Given the description of an element on the screen output the (x, y) to click on. 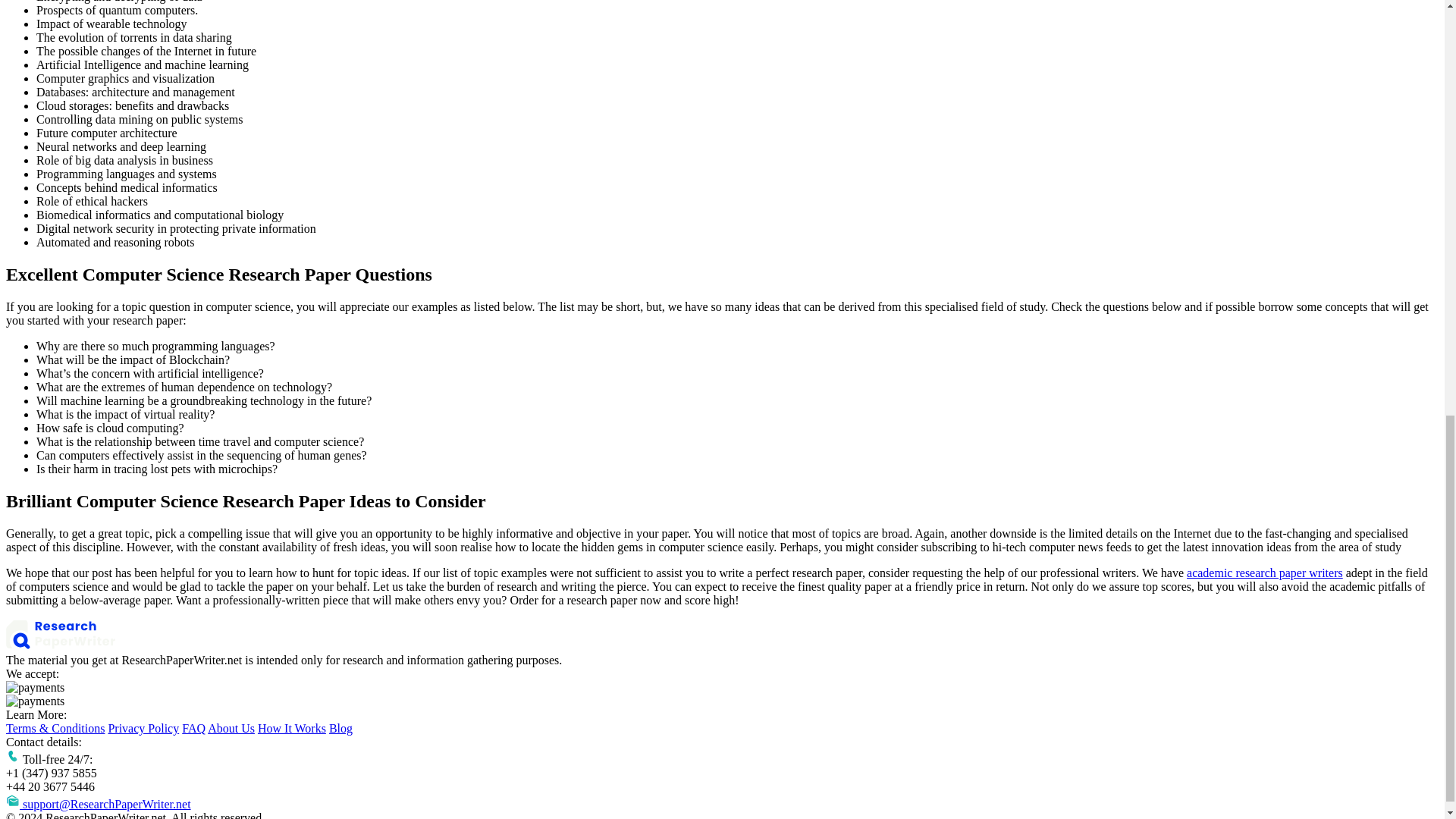
About Us (231, 727)
Blog (340, 727)
How It Works (291, 727)
academic research paper writers (1264, 572)
FAQ (193, 727)
Privacy Policy (143, 727)
